Given the description of an element on the screen output the (x, y) to click on. 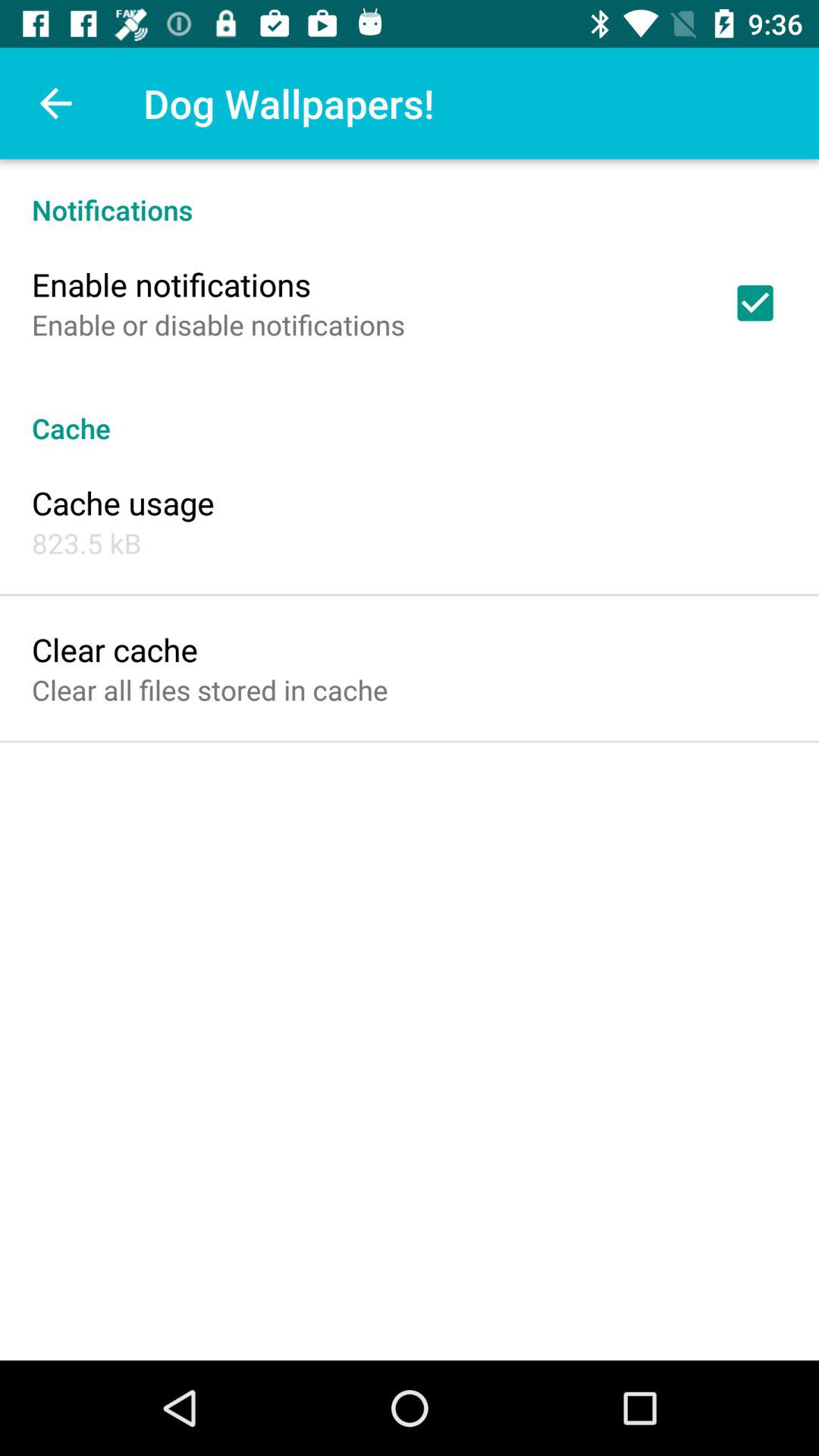
turn on the cache usage (122, 502)
